Given the description of an element on the screen output the (x, y) to click on. 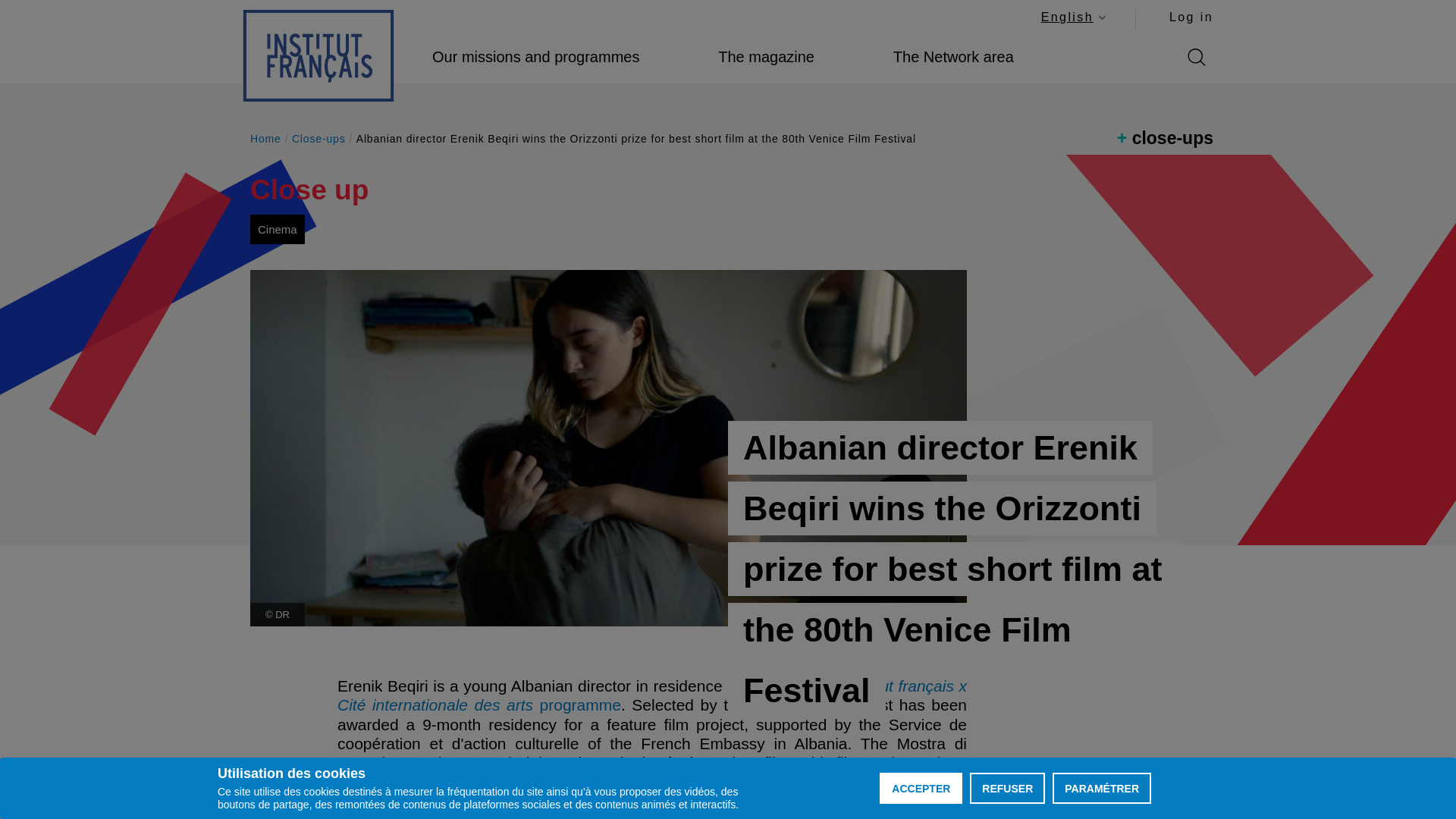
Accept cookies (920, 788)
Home (318, 55)
Our missions and programmes (535, 57)
The magazine (766, 57)
REFUSER (1071, 16)
Log in (1007, 788)
ACCEPTER (1190, 16)
